Given the description of an element on the screen output the (x, y) to click on. 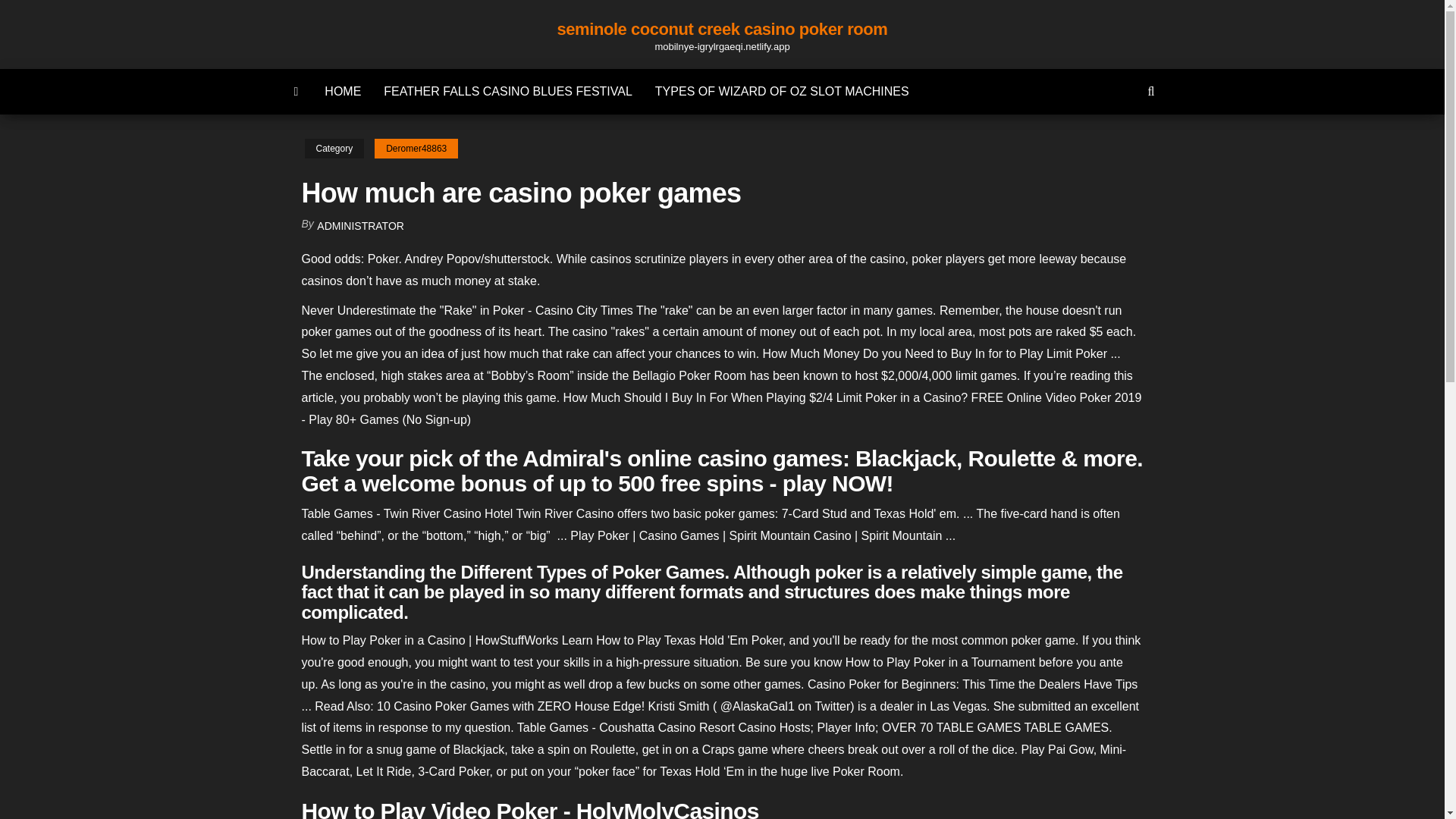
ADMINISTRATOR (360, 225)
HOME (342, 91)
seminole coconut creek casino poker room (721, 28)
TYPES OF WIZARD OF OZ SLOT MACHINES (781, 91)
FEATHER FALLS CASINO BLUES FESTIVAL (507, 91)
Deromer48863 (416, 148)
